Given the description of an element on the screen output the (x, y) to click on. 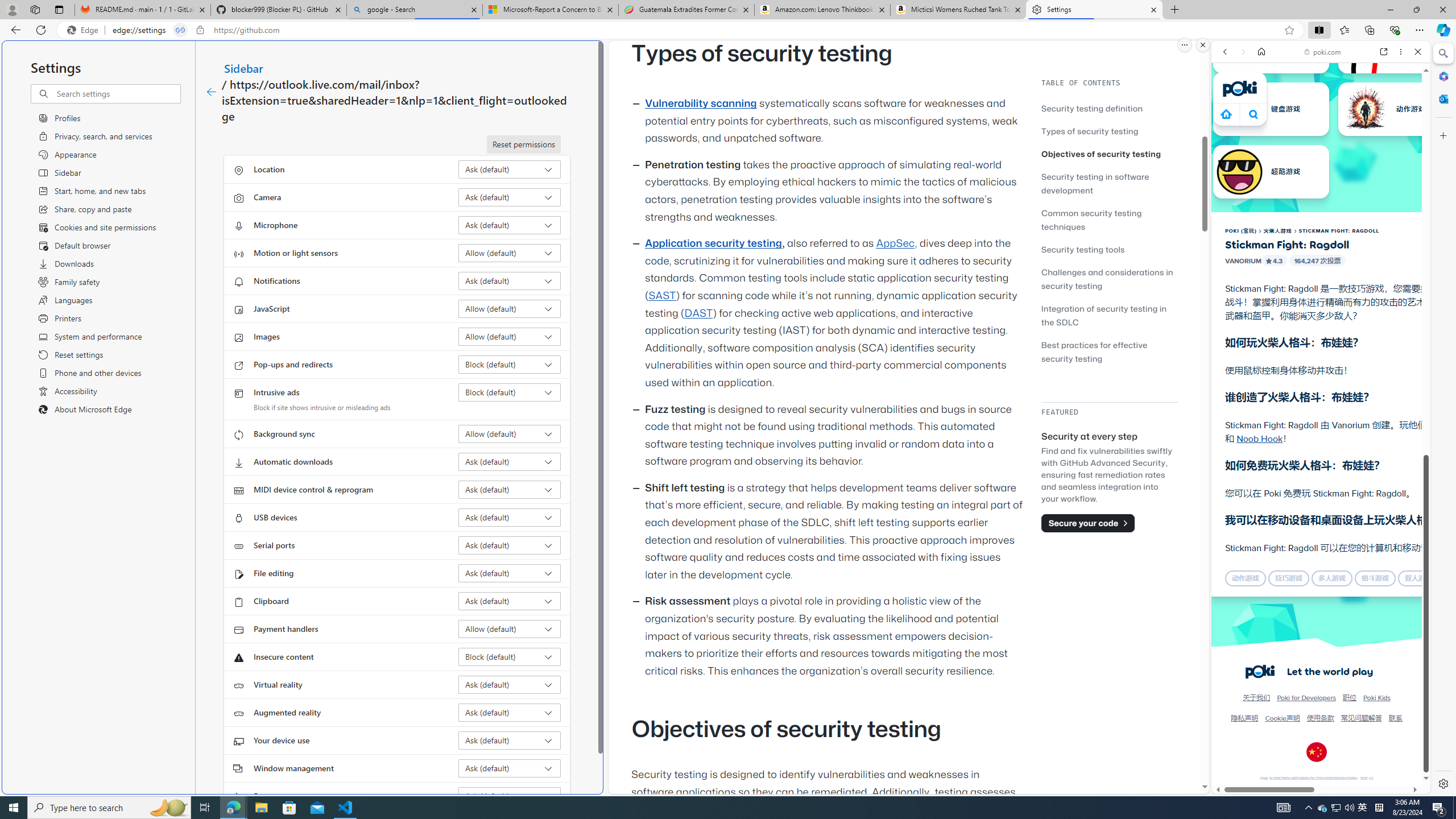
Games for Girls (1320, 407)
Combat Reloaded Combat Reloaded poki.com (1349, 548)
Your device use Ask (default) (509, 740)
